Given the description of an element on the screen output the (x, y) to click on. 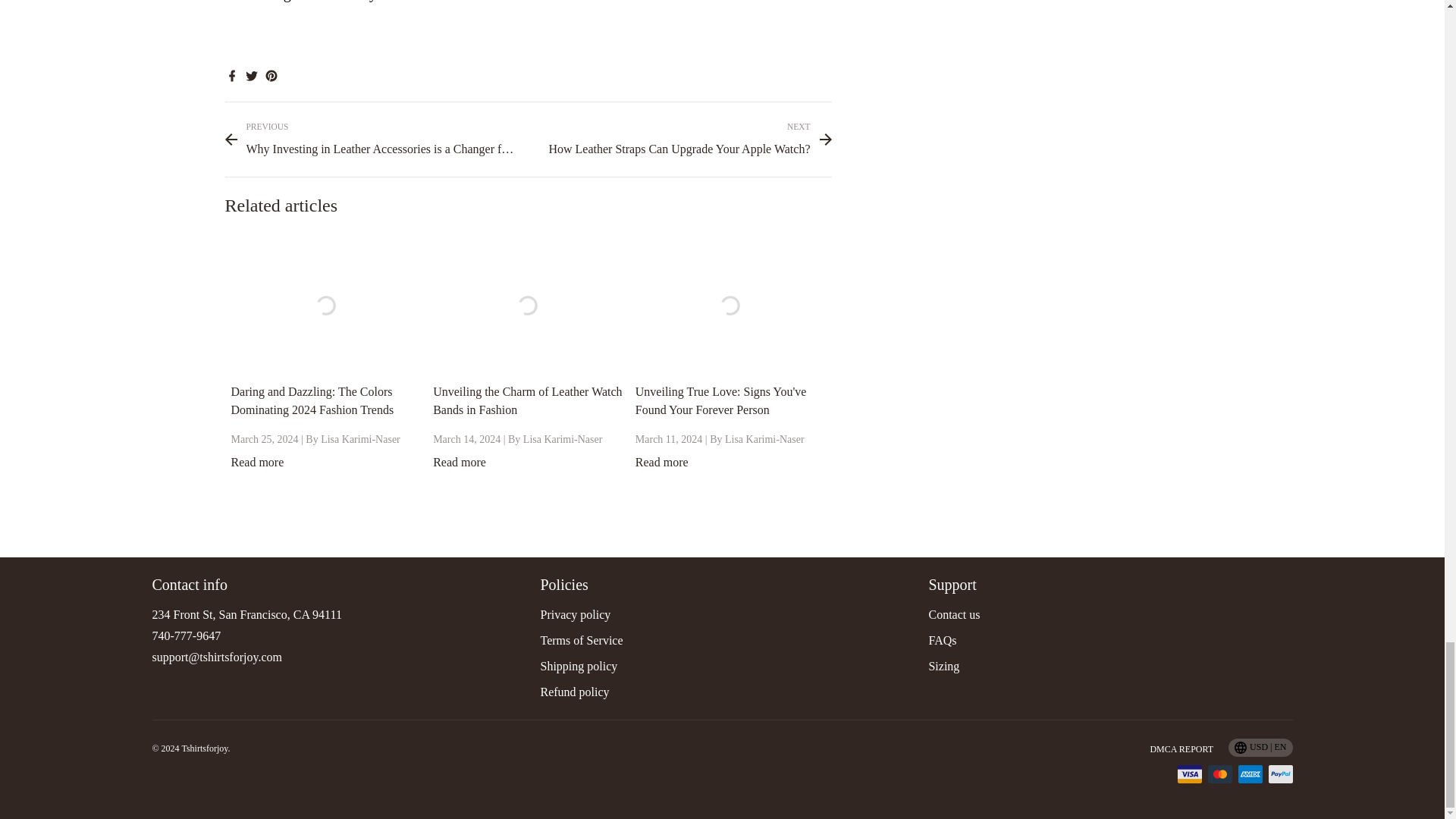
Pin on Pinterest (270, 74)
Read more (256, 461)
Share on Facebook (231, 74)
Share on Twitter (250, 74)
Read more (459, 461)
Unveiling the Charm of Leather Watch Bands in Fashion (526, 400)
Unveiling True Love: Signs You've Found Your Forever Person (720, 400)
Read more (661, 461)
